Given the description of an element on the screen output the (x, y) to click on. 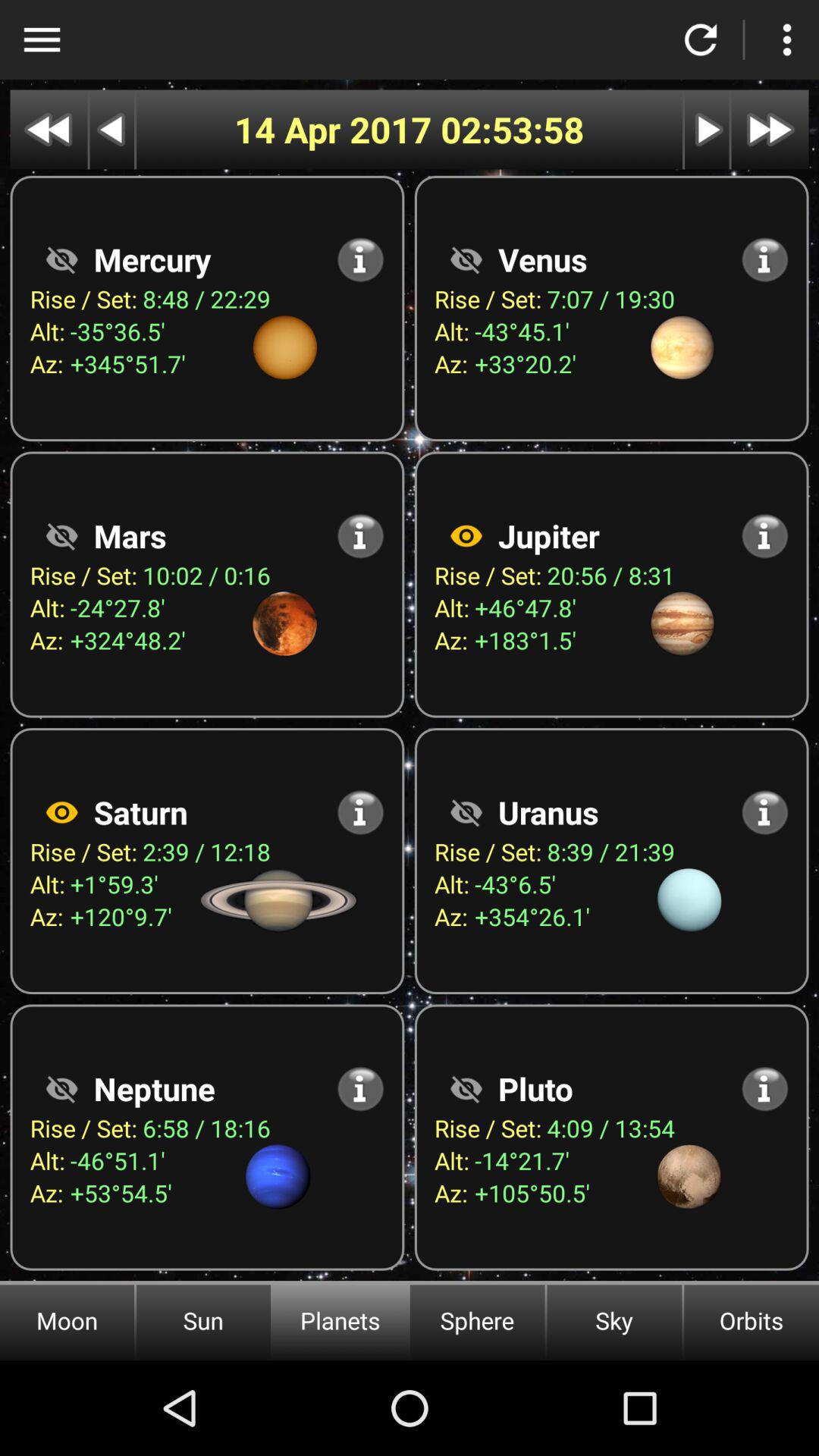
fast forward (769, 129)
